Given the description of an element on the screen output the (x, y) to click on. 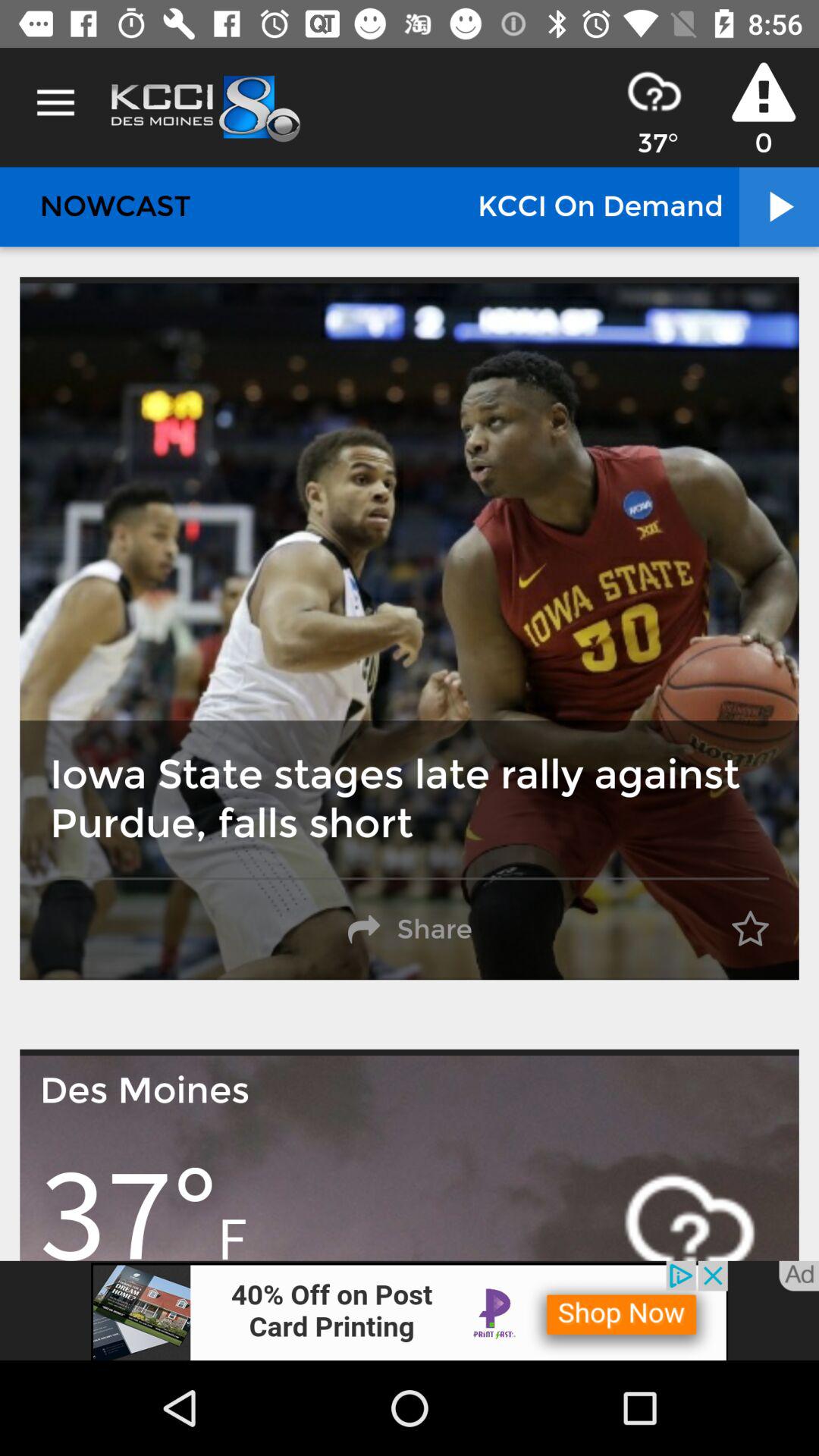
click advertisement (409, 1310)
